Given the description of an element on the screen output the (x, y) to click on. 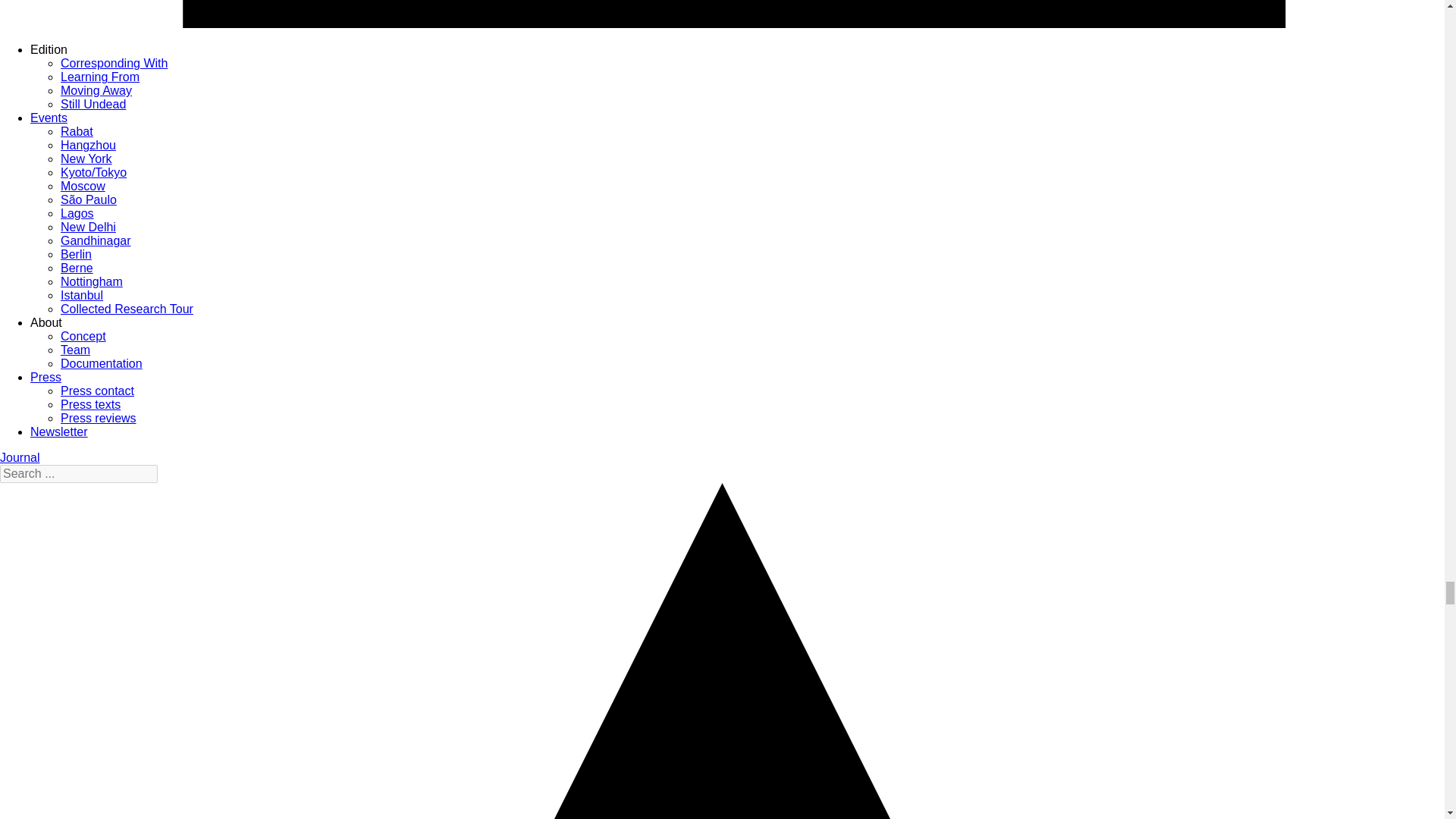
Team (75, 349)
Newsletter (58, 431)
New Delhi (88, 226)
Moscow (82, 185)
Collected Research Tour (127, 308)
Gandhinagar (96, 240)
Events (48, 117)
Berne (77, 267)
Corresponding With (114, 62)
Lagos (77, 213)
Hangzhou (88, 144)
Concept (83, 336)
Istanbul (82, 295)
Learning From (100, 76)
Moving Away (96, 90)
